Given the description of an element on the screen output the (x, y) to click on. 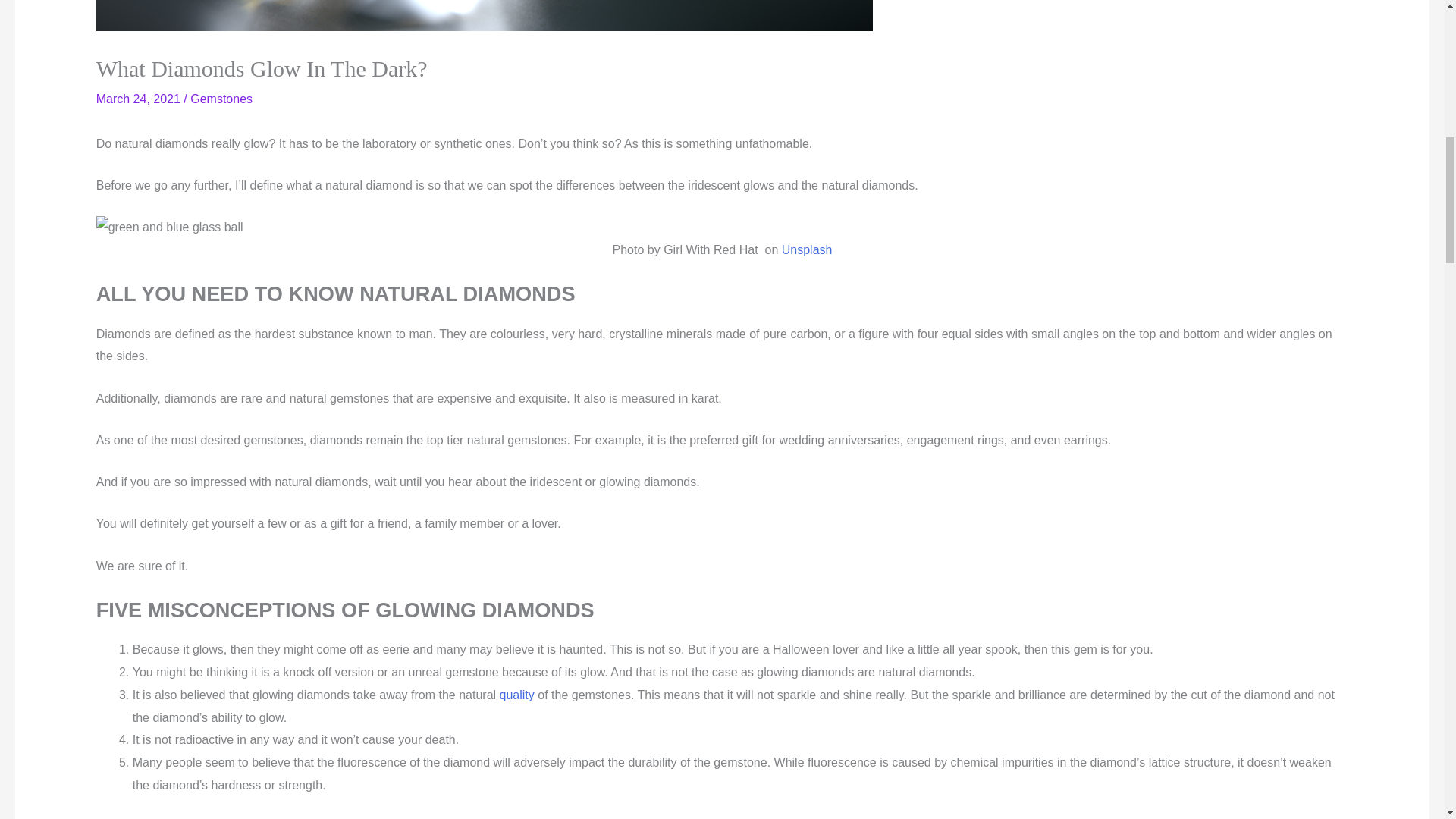
Gemstones (220, 98)
Unsplash (804, 249)
quality (518, 694)
